Given the description of an element on the screen output the (x, y) to click on. 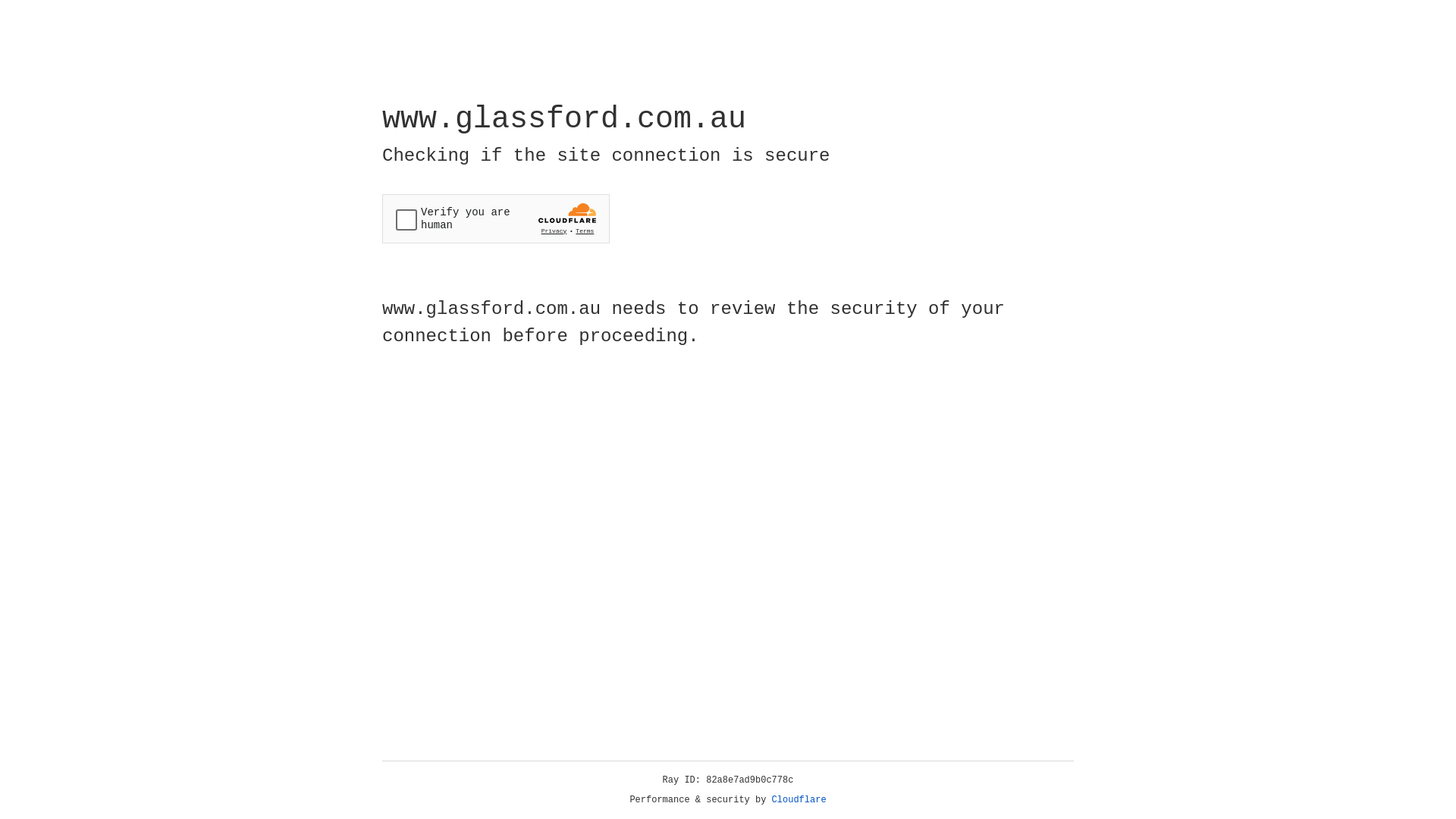
Widget containing a Cloudflare security challenge Element type: hover (495, 218)
Cloudflare Element type: text (798, 799)
